Given the description of an element on the screen output the (x, y) to click on. 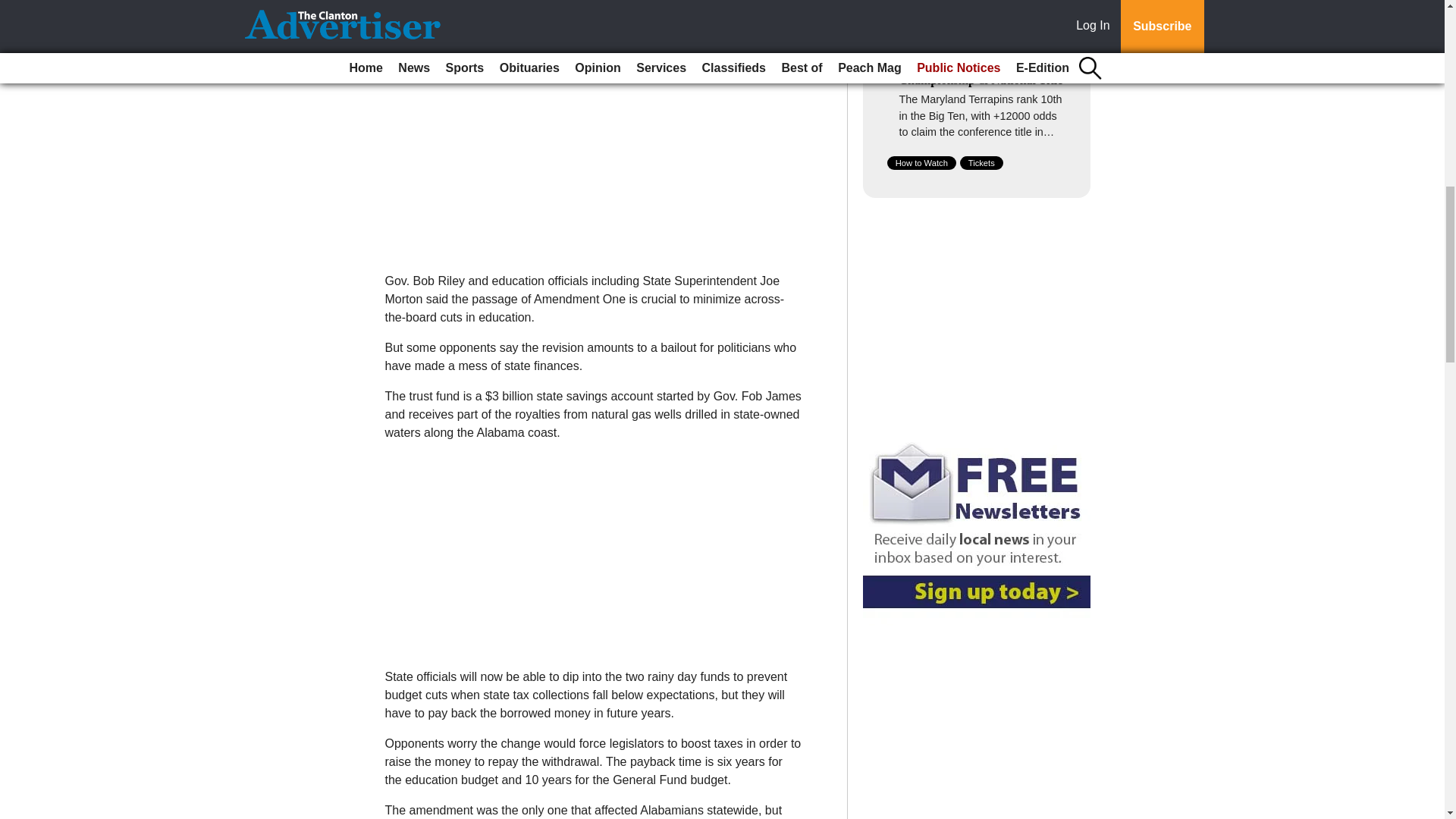
How to Watch (921, 162)
Tickets (981, 162)
